Given the description of an element on the screen output the (x, y) to click on. 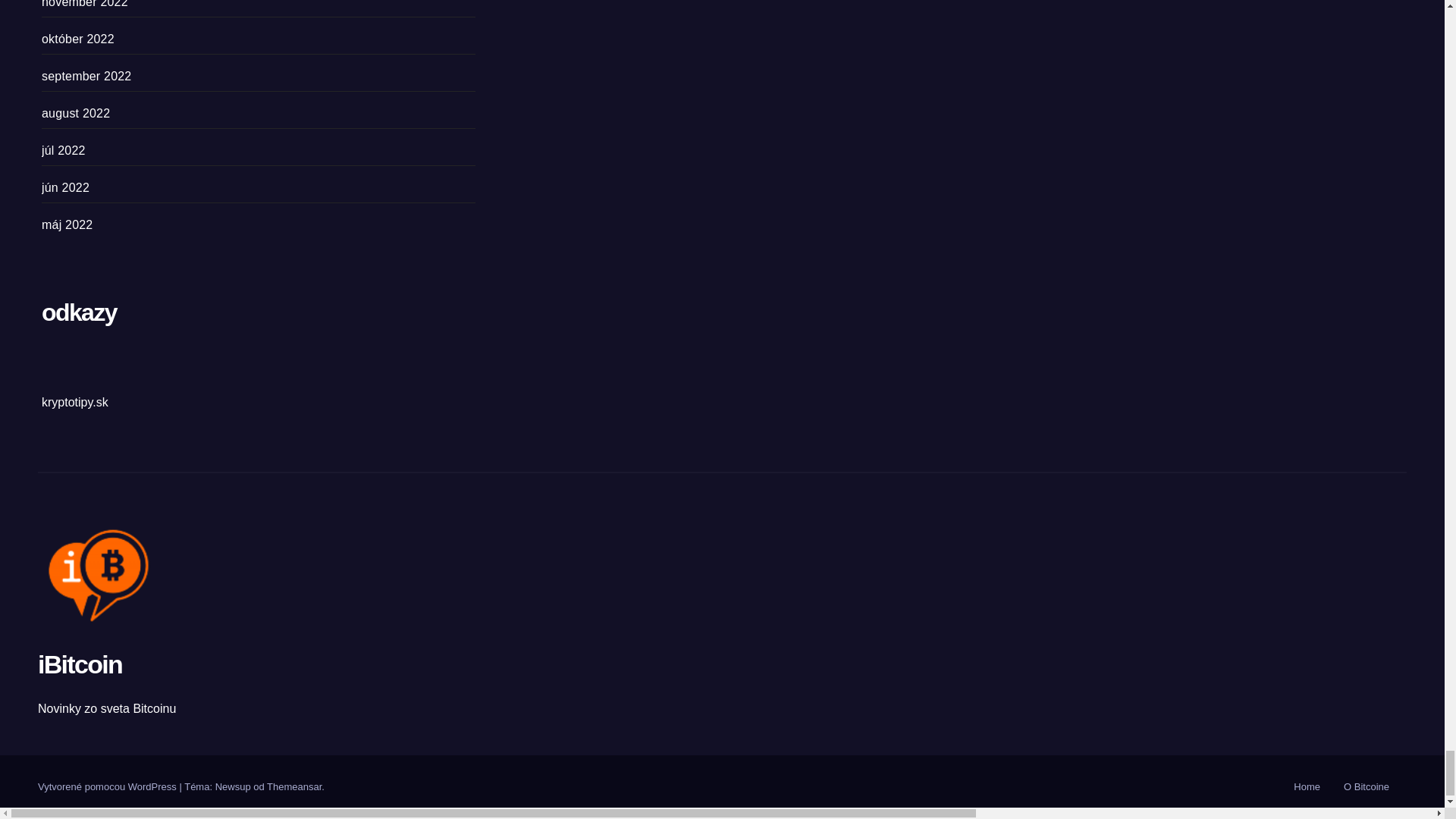
Home (1306, 786)
